Given the description of an element on the screen output the (x, y) to click on. 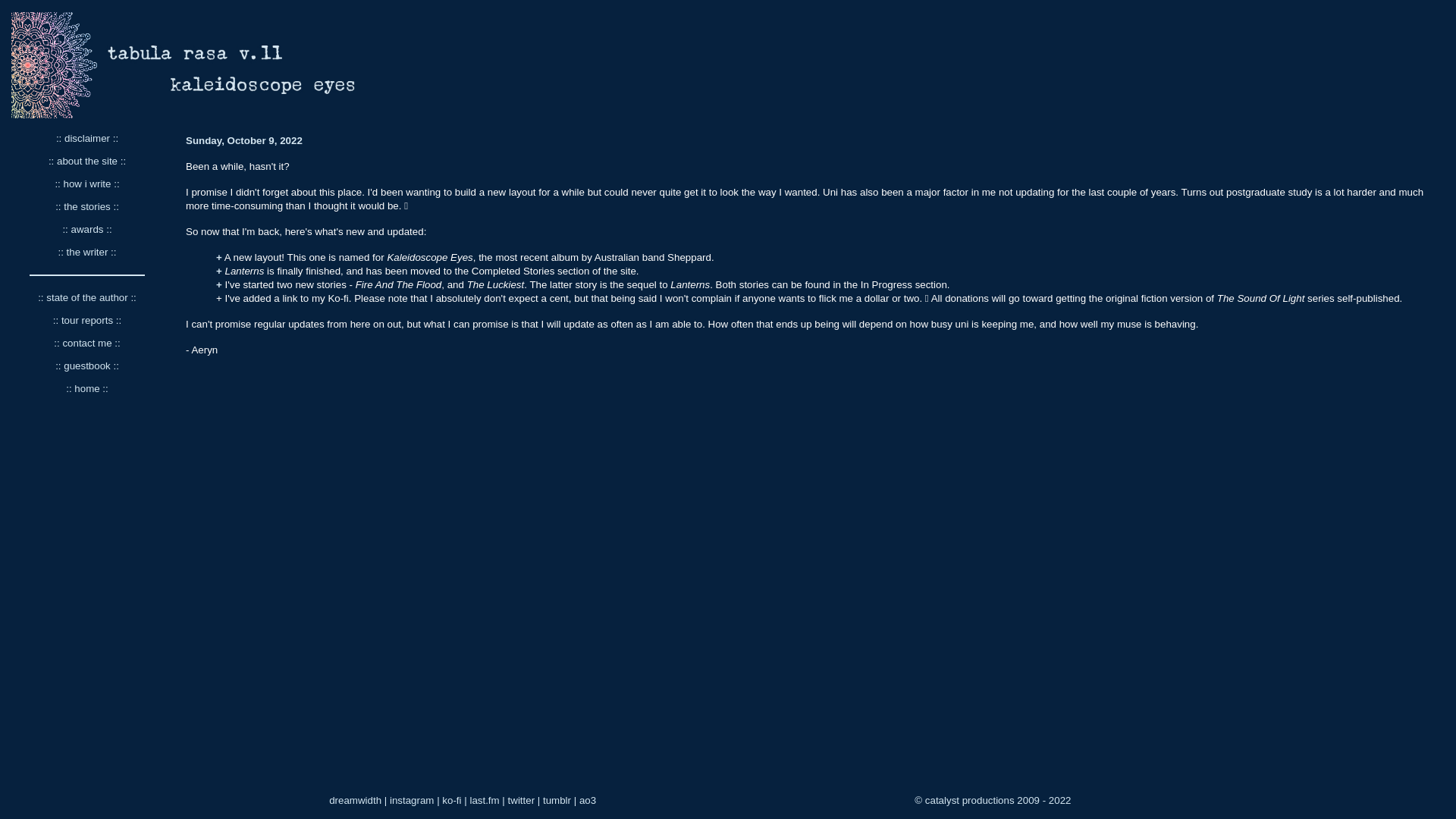
last.fm Element type: text (483, 800)
:: home :: Element type: text (86, 388)
ko-fi Element type: text (451, 800)
ao3 Element type: text (587, 800)
:: the writer :: Element type: text (86, 251)
instagram Element type: text (411, 800)
tumblr Element type: text (556, 800)
:: the stories :: Element type: text (87, 206)
dreamwidth Element type: text (355, 800)
twitter Element type: text (521, 800)
:: guestbook :: Element type: text (87, 365)
:: how i write :: Element type: text (86, 183)
:: disclaimer :: Element type: text (87, 138)
:: about the site :: Element type: text (86, 160)
:: tour reports :: Element type: text (87, 320)
:: contact me :: Element type: text (86, 342)
:: awards :: Element type: text (86, 229)
:: state of the author :: Element type: text (86, 297)
